Given the description of an element on the screen output the (x, y) to click on. 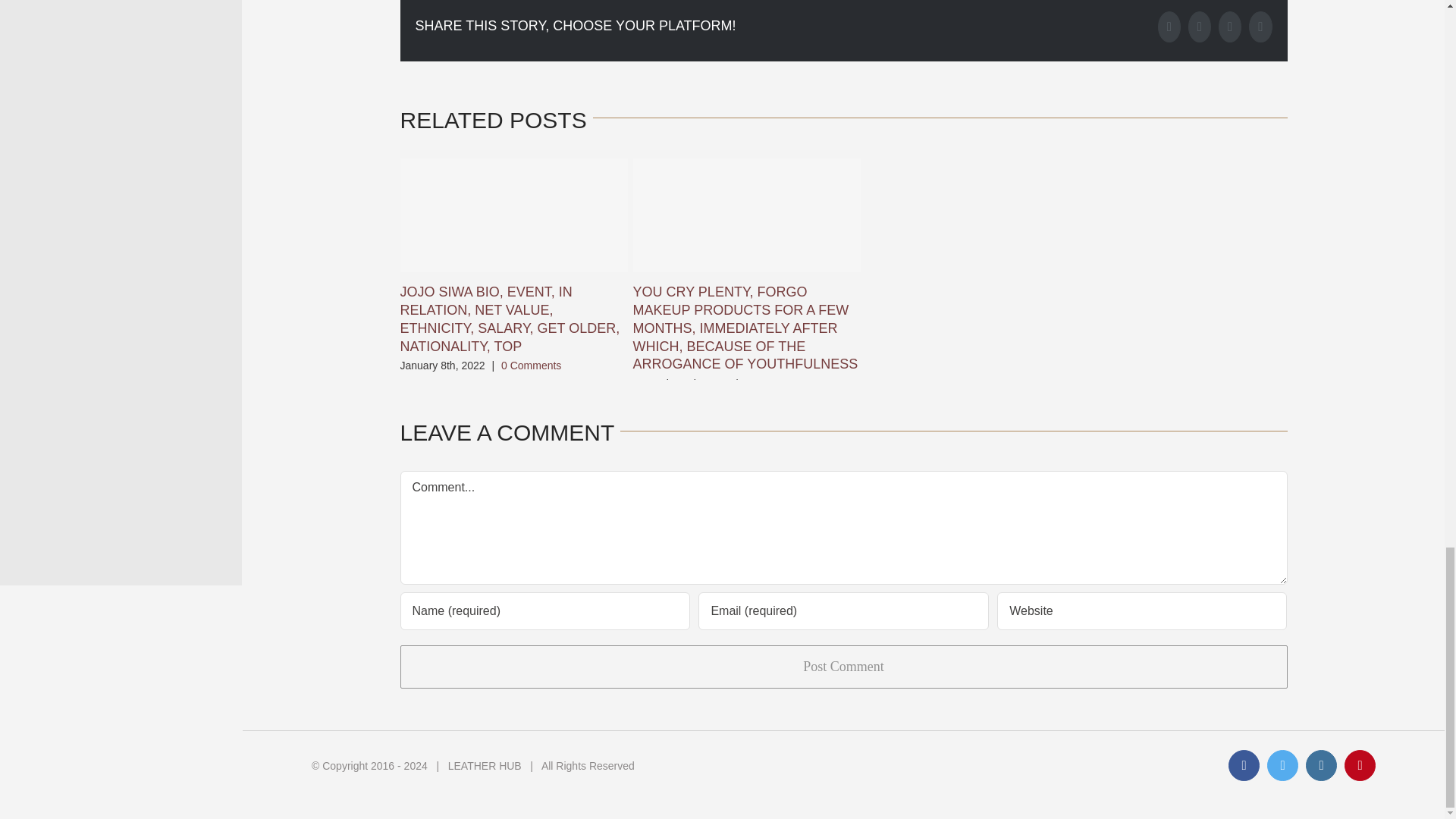
Pinterest (1260, 26)
Tumblr (1229, 26)
Post Comment (843, 666)
0 Comments (530, 365)
0 Comments (775, 383)
Twitter (1199, 26)
Facebook (1168, 26)
Post Comment (843, 666)
